Given the description of an element on the screen output the (x, y) to click on. 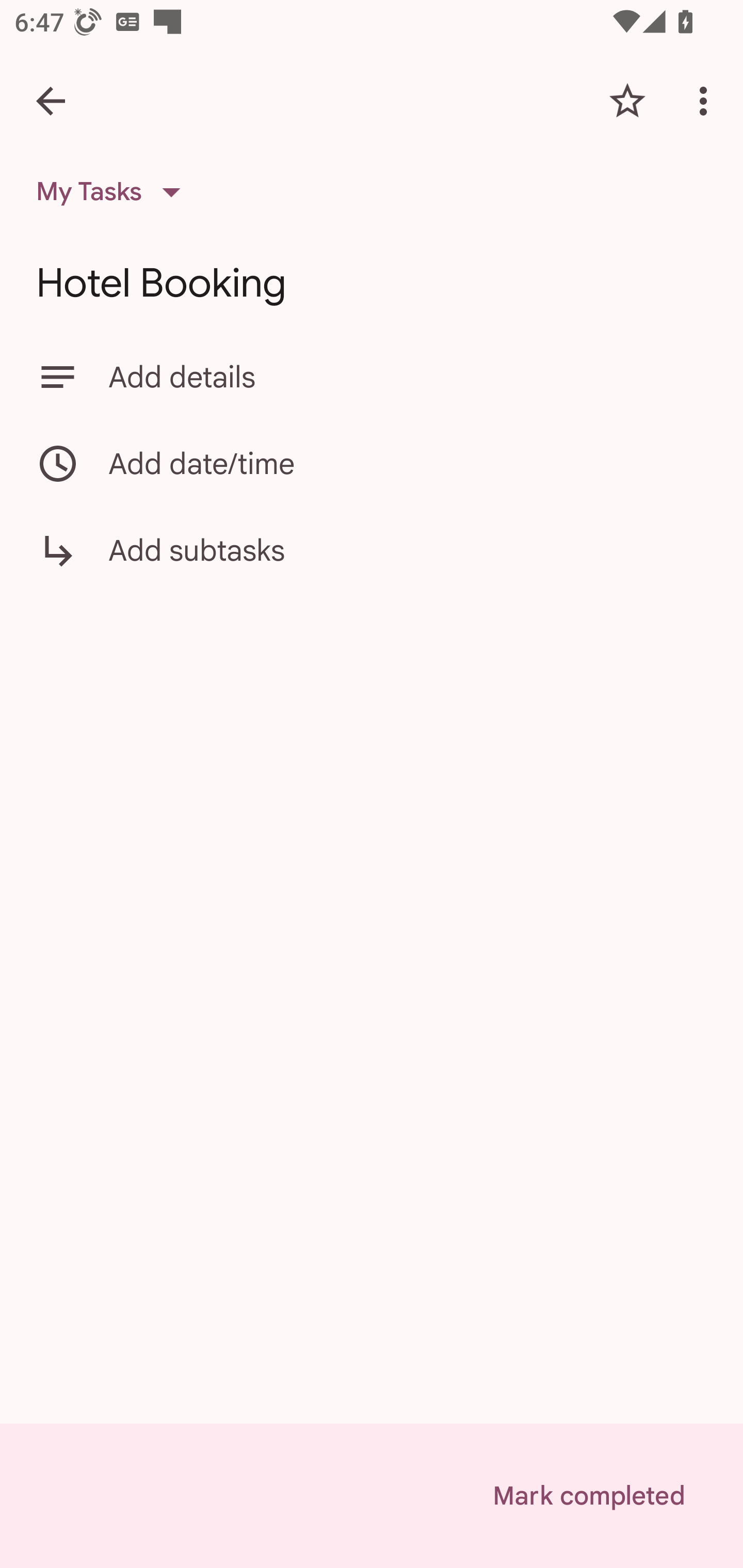
Back (50, 101)
Add star (626, 101)
More options (706, 101)
My Tasks List, My Tasks selected, 1 of 5 (114, 191)
Hotel Booking (371, 283)
Add details (371, 376)
Add details (407, 376)
Add date/time (371, 463)
Add subtasks (371, 564)
Mark completed (588, 1495)
